Given the description of an element on the screen output the (x, y) to click on. 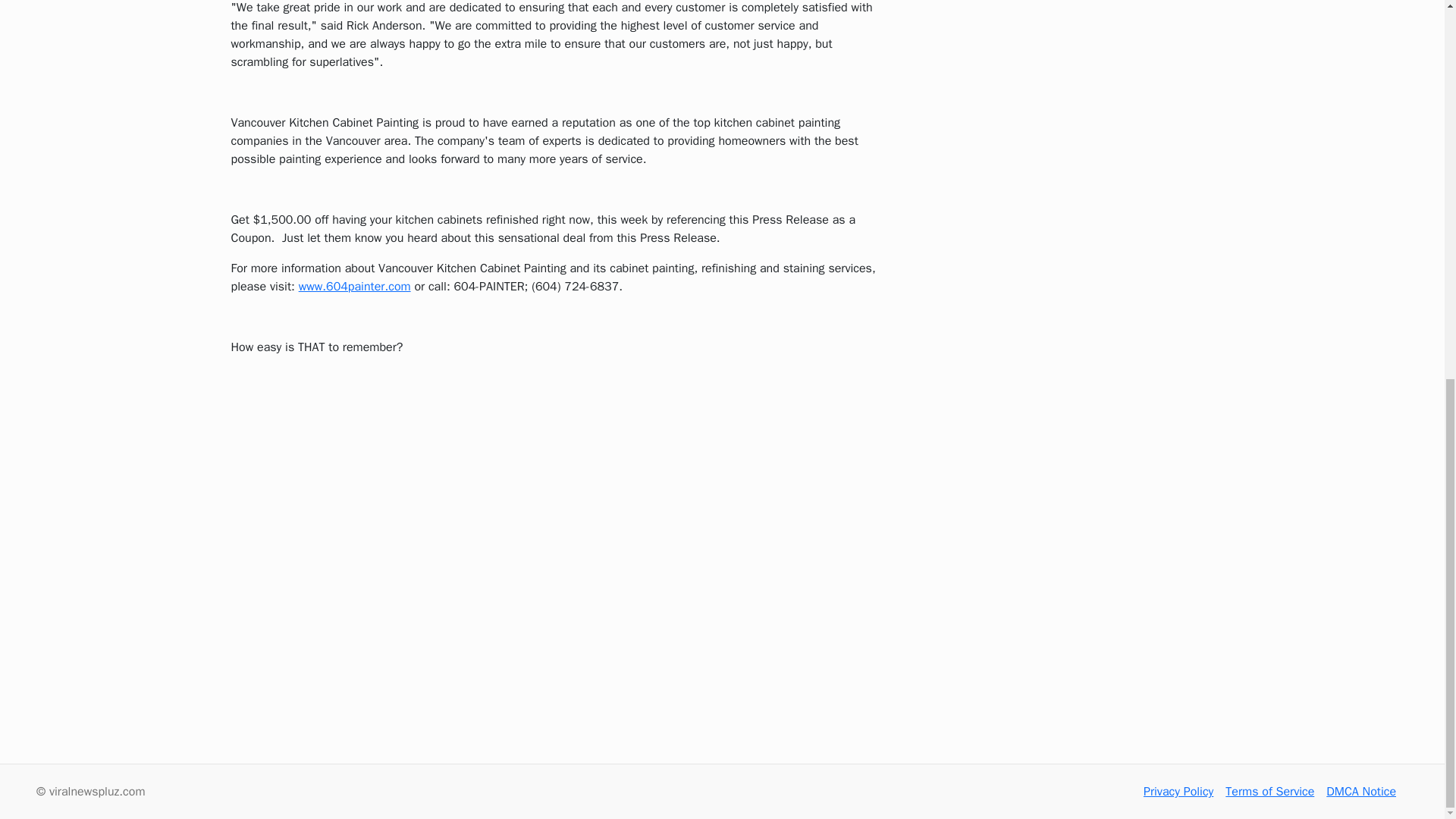
www.604painter.com (354, 286)
Terms of Service (1269, 791)
Privacy Policy (1177, 791)
DMCA Notice (1361, 791)
